Given the description of an element on the screen output the (x, y) to click on. 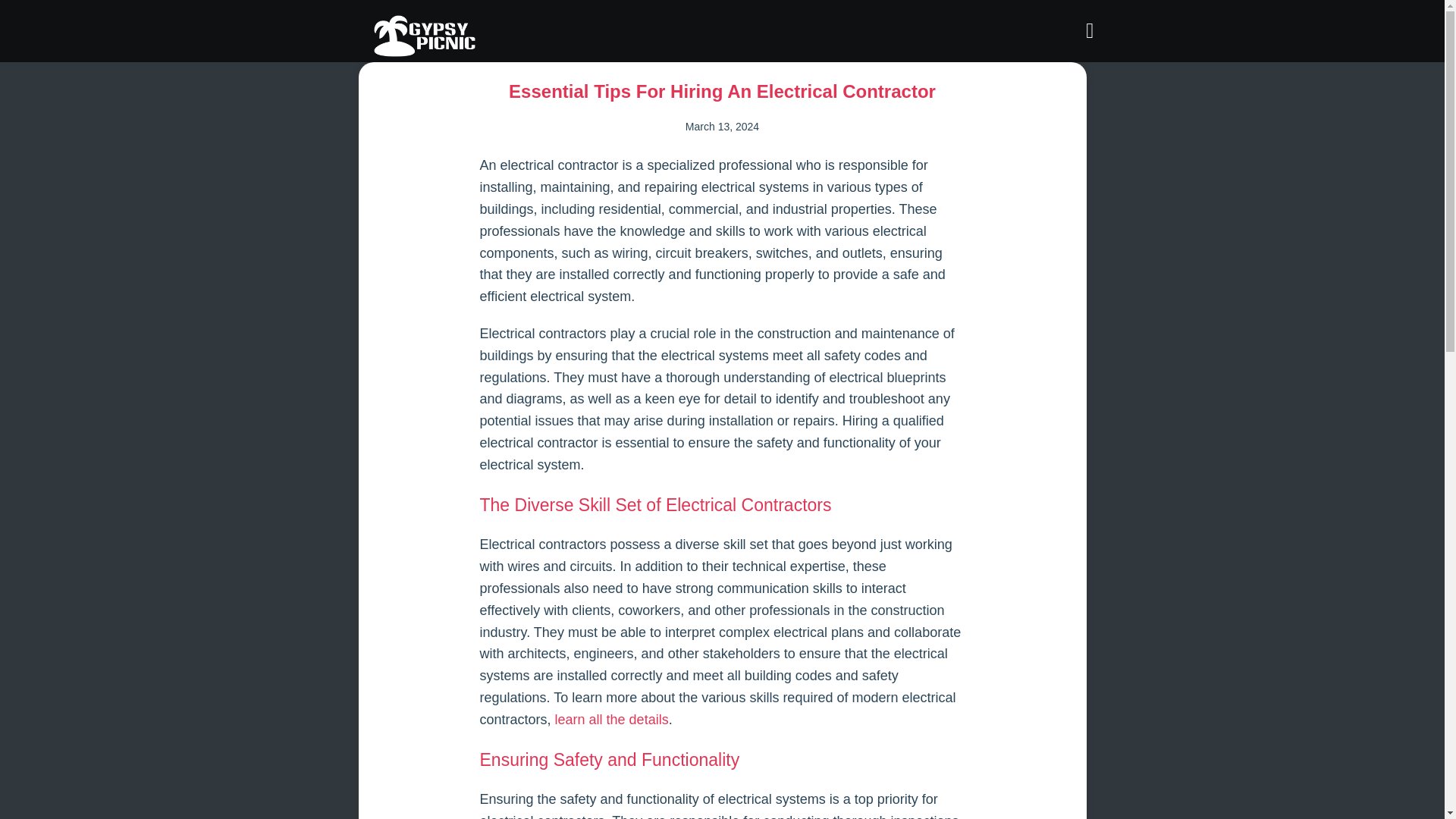
learn all the details (611, 719)
